Given the description of an element on the screen output the (x, y) to click on. 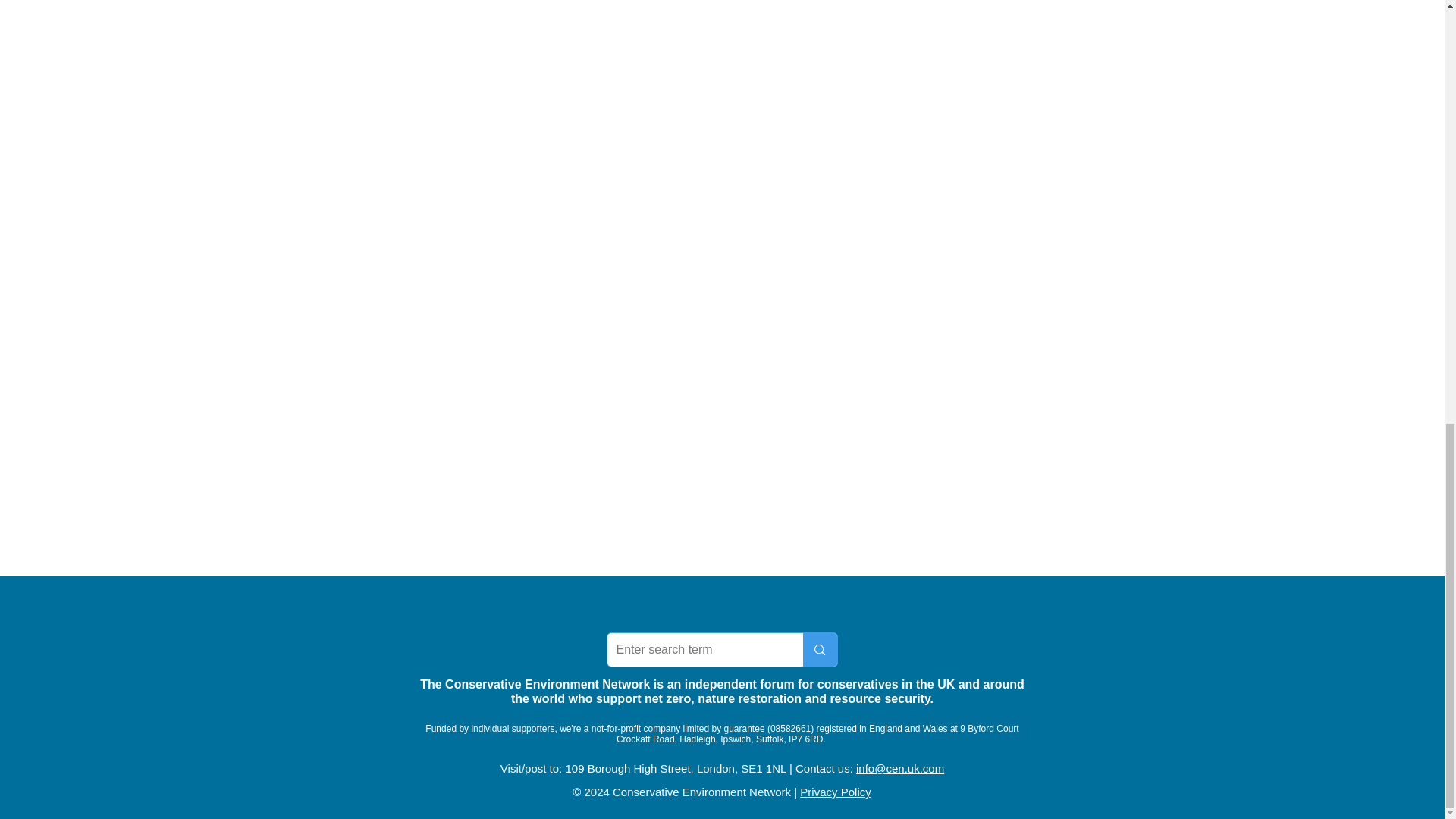
Privacy Policy (834, 791)
